Given the description of an element on the screen output the (x, y) to click on. 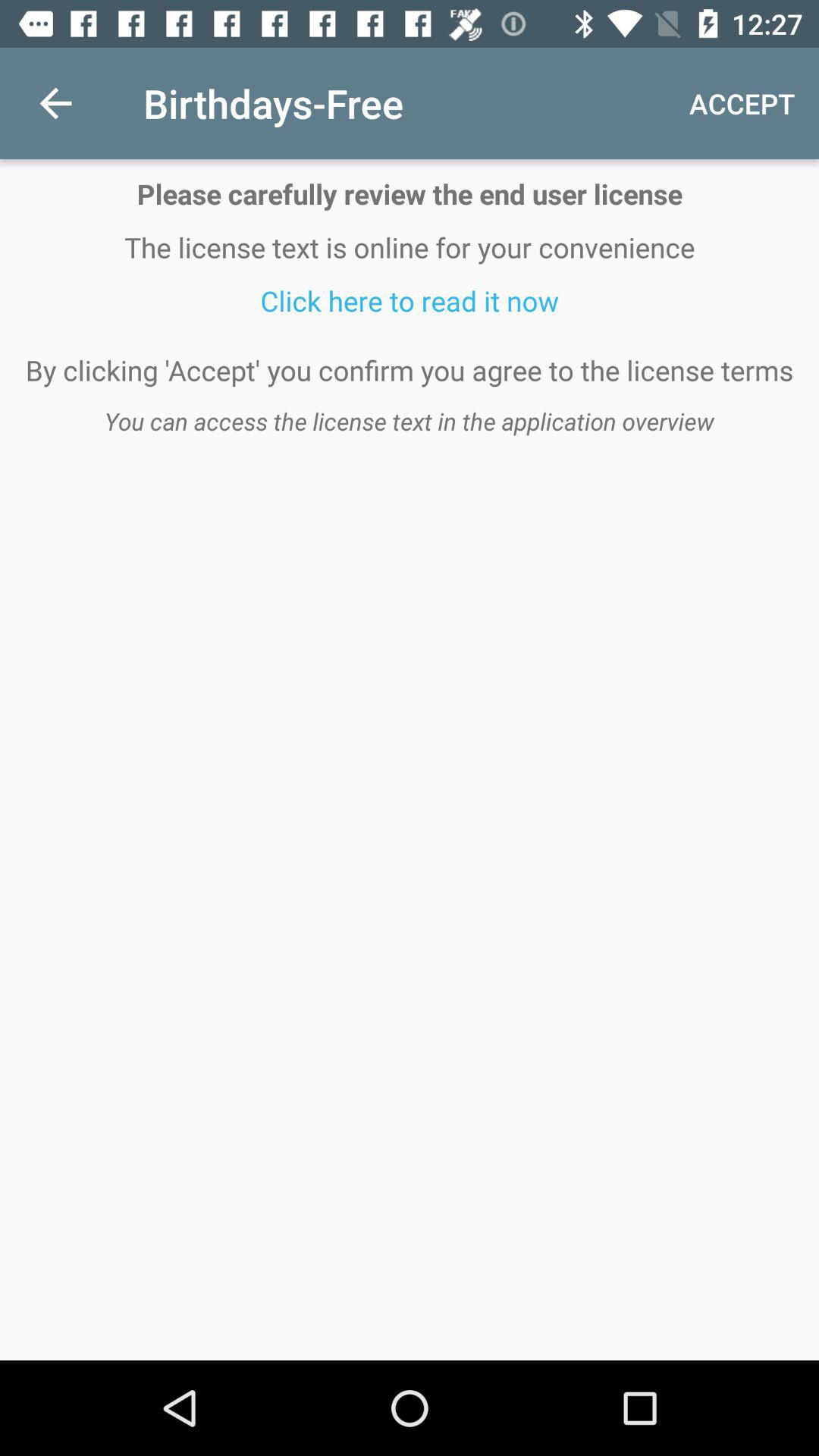
flip until the click here to icon (409, 300)
